Given the description of an element on the screen output the (x, y) to click on. 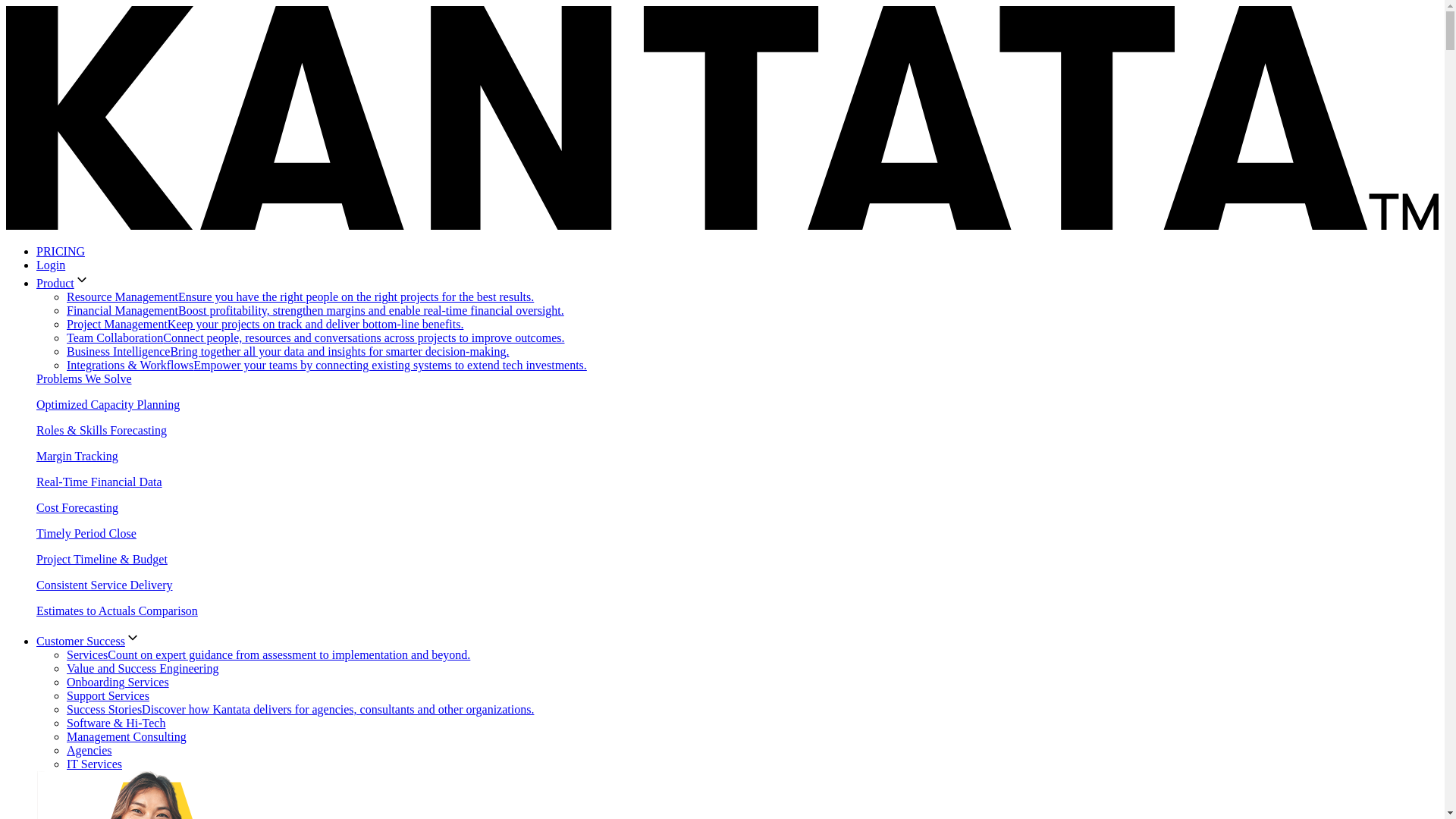
Agencies (89, 749)
Onboarding Services (117, 681)
Problems We Solve (84, 378)
Customer Success (87, 640)
Product (62, 282)
Login (50, 264)
PRICING (60, 250)
IT Services (94, 763)
Support Services (107, 695)
